Given the description of an element on the screen output the (x, y) to click on. 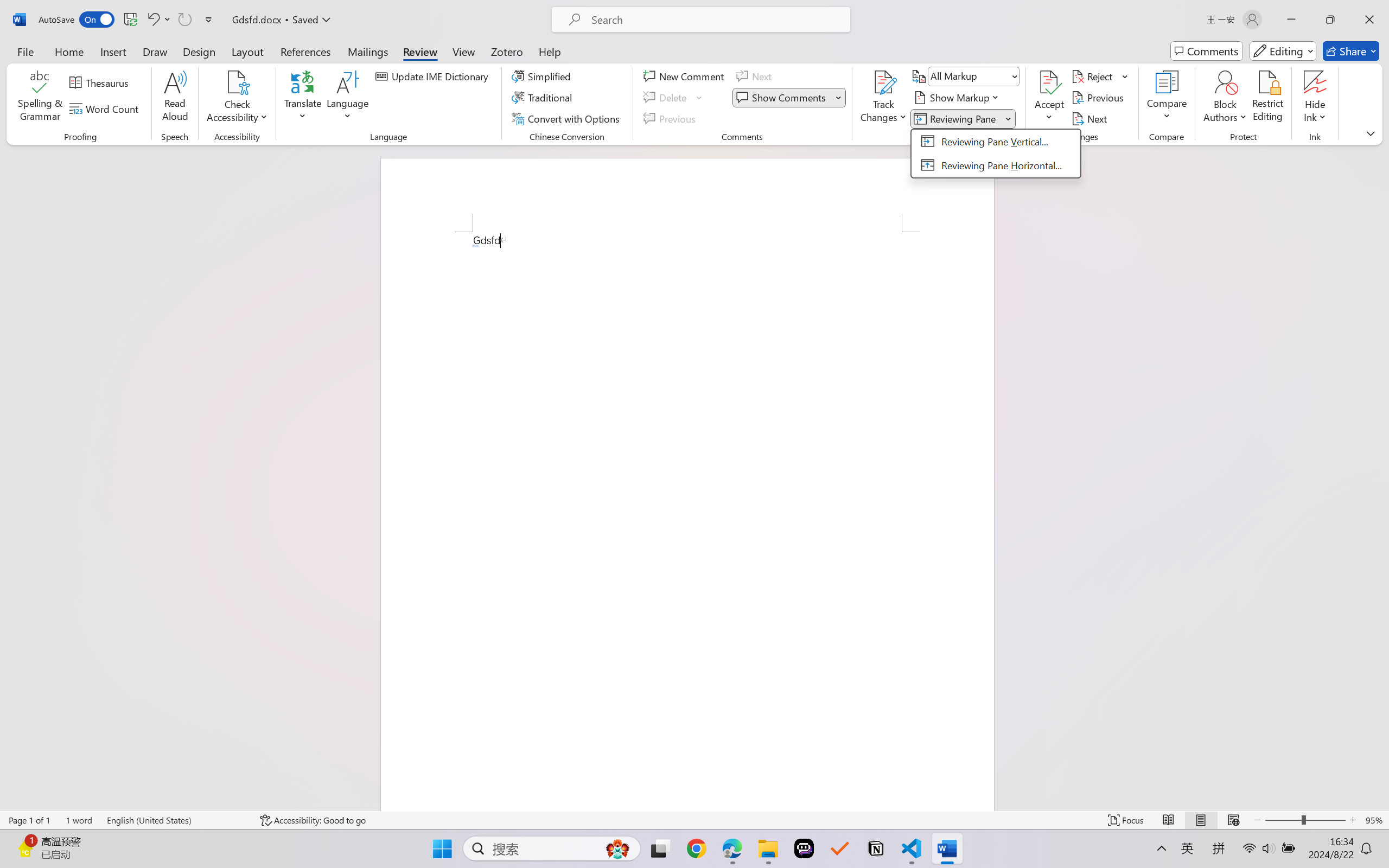
Restrict Editing (1267, 97)
Action: Undo Auto Actions (475, 245)
Word Count (105, 108)
Show Comments (788, 97)
Undo AutoCorrect (152, 19)
Page 1 content (687, 521)
Open (1014, 76)
